Given the description of an element on the screen output the (x, y) to click on. 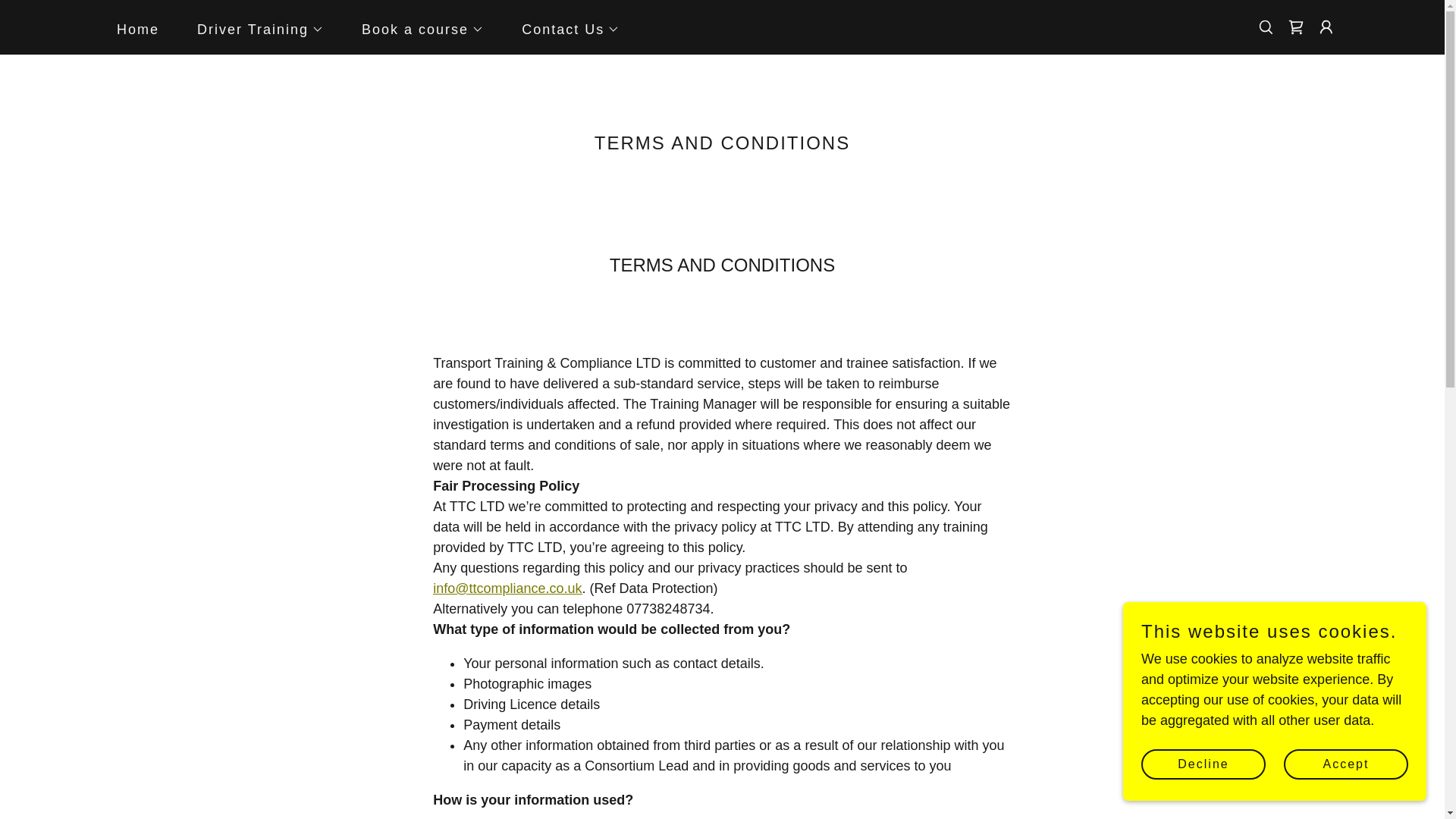
Home (131, 28)
Contact Us (564, 28)
Book a course (415, 28)
Driver Training (253, 28)
